Given the description of an element on the screen output the (x, y) to click on. 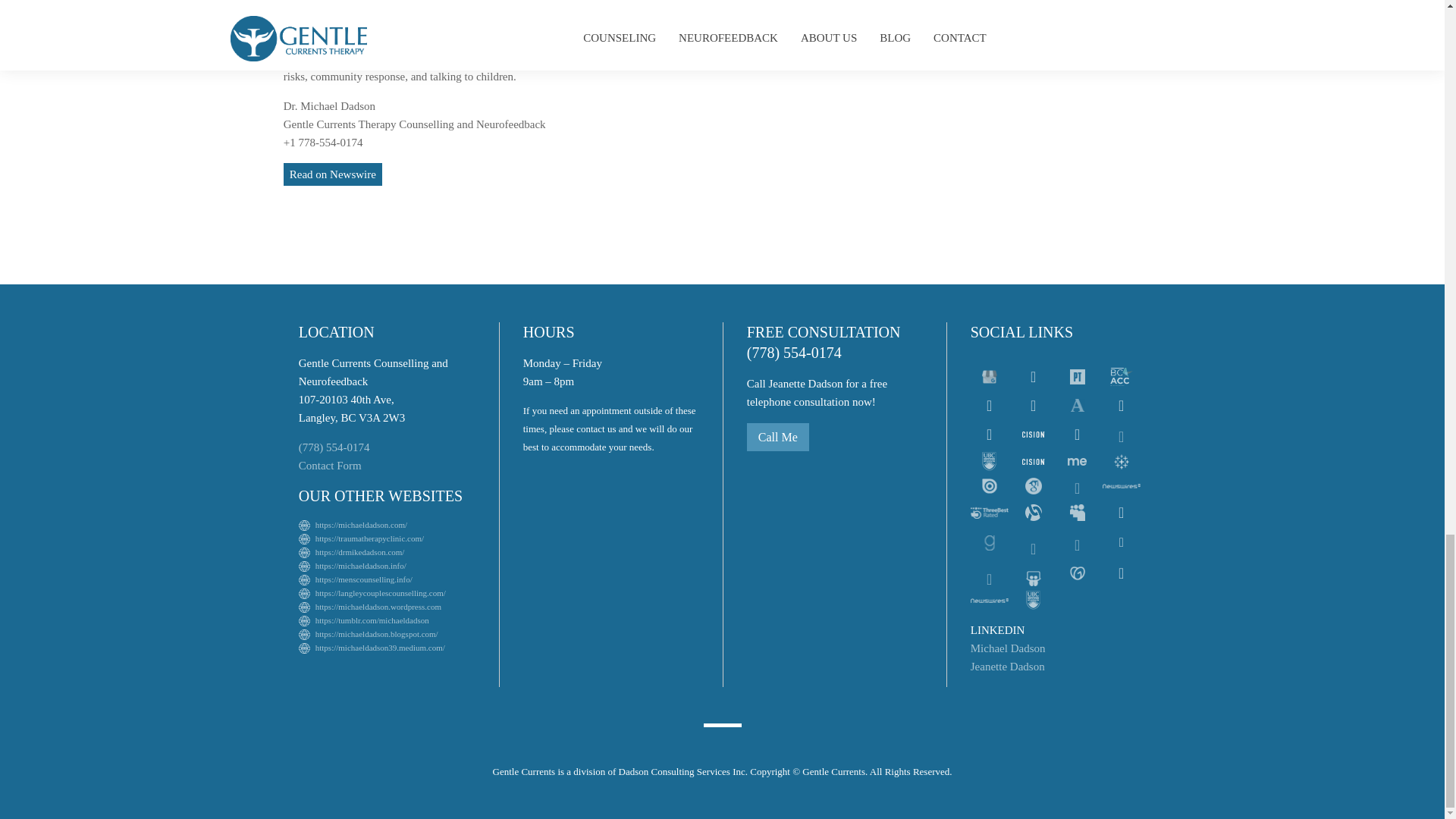
Read on Newswire (332, 174)
Read on Newswire (332, 173)
